Given the description of an element on the screen output the (x, y) to click on. 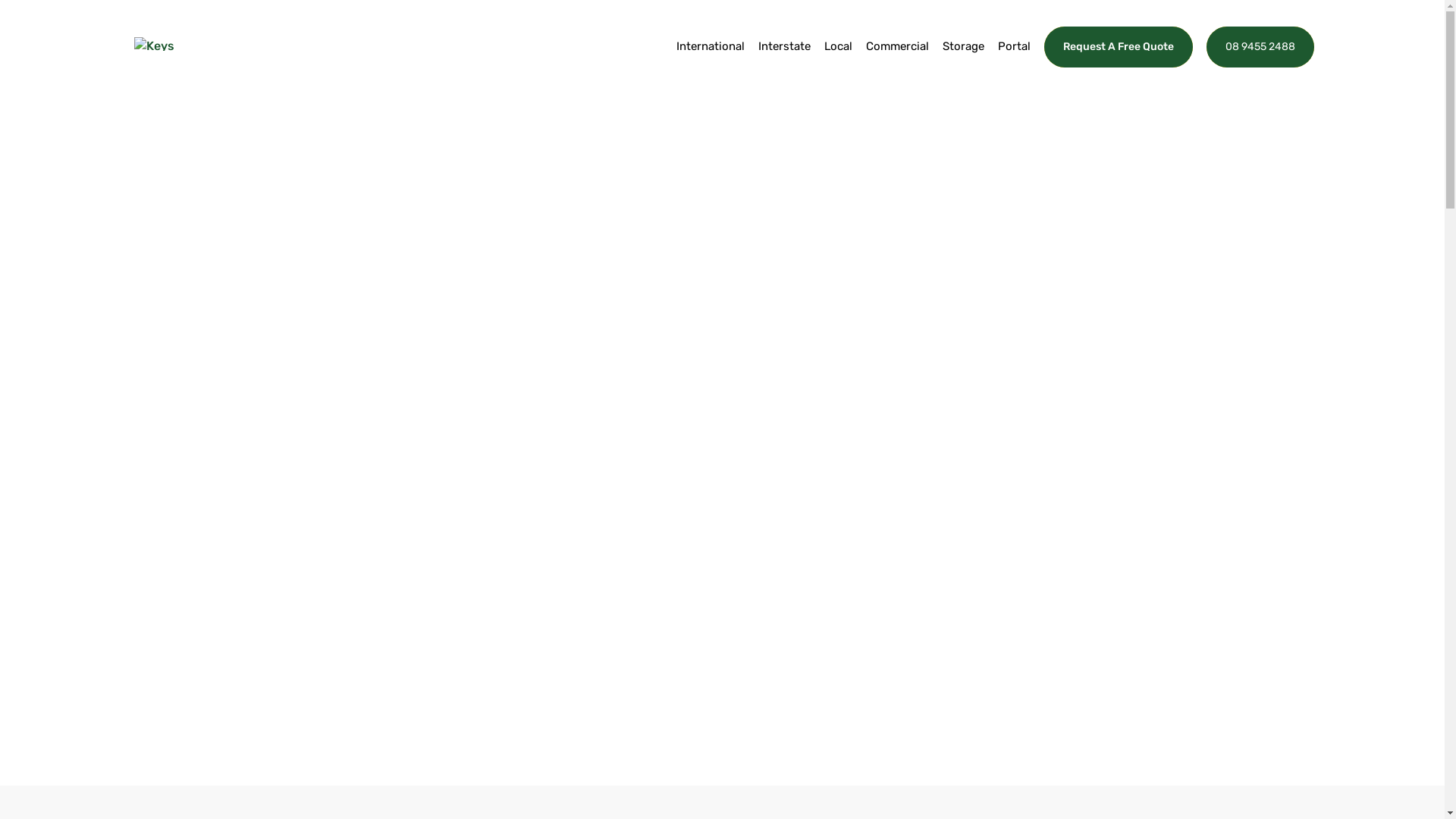
Interstate Element type: text (784, 63)
Request A Free Quote Element type: text (1117, 46)
08 9455 2488 Element type: text (1259, 46)
Portal Element type: text (1013, 63)
Commercial Element type: text (897, 63)
Local Element type: text (837, 63)
Storage Element type: text (962, 63)
International Element type: text (710, 63)
